Given the description of an element on the screen output the (x, y) to click on. 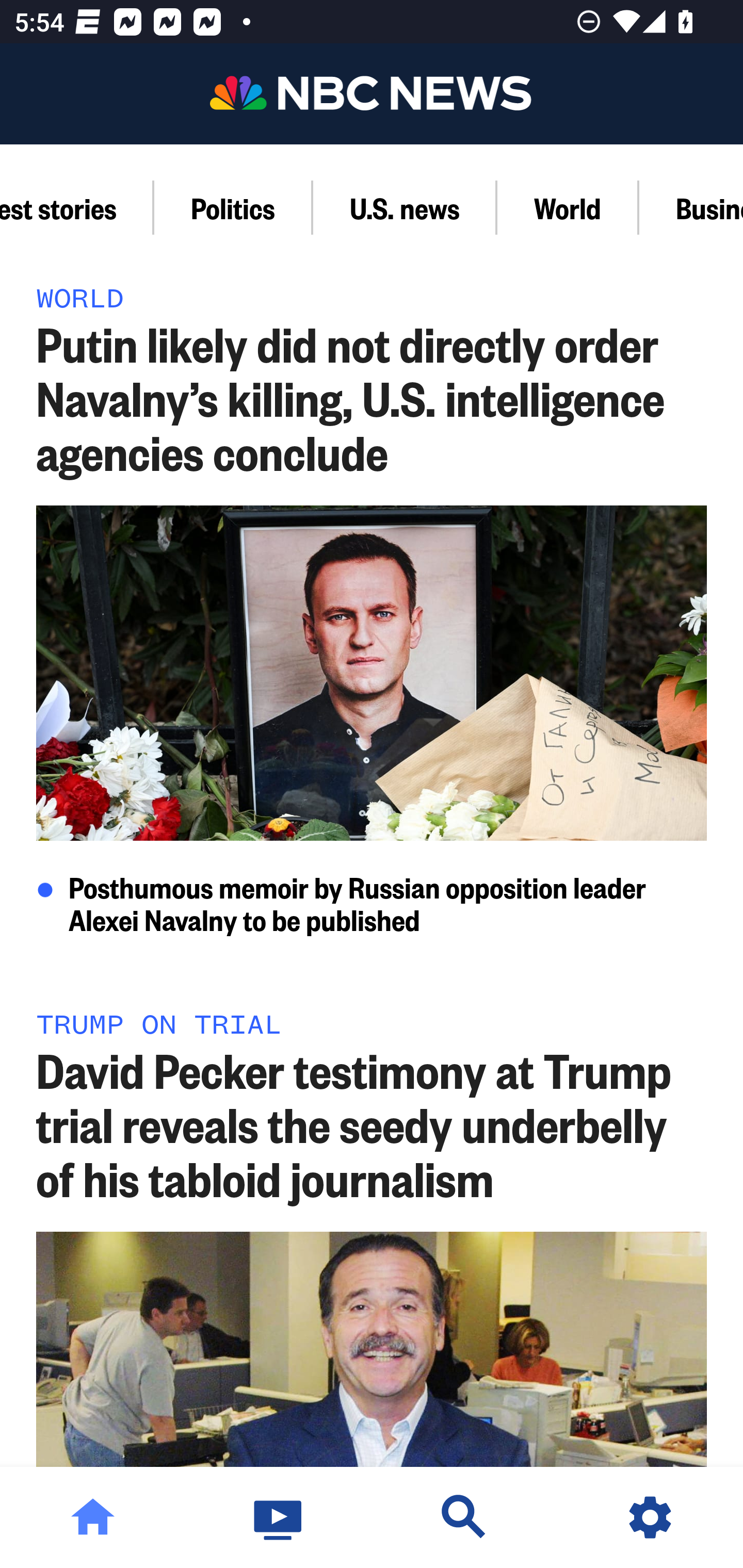
Latest stories Section,Latest stories (77, 207)
Politics Section,Politics (233, 207)
U.S. news Section,U.S. news (405, 207)
World Section,World (567, 207)
Business Section,Business (690, 207)
Watch (278, 1517)
Discover (464, 1517)
Settings (650, 1517)
